Given the description of an element on the screen output the (x, y) to click on. 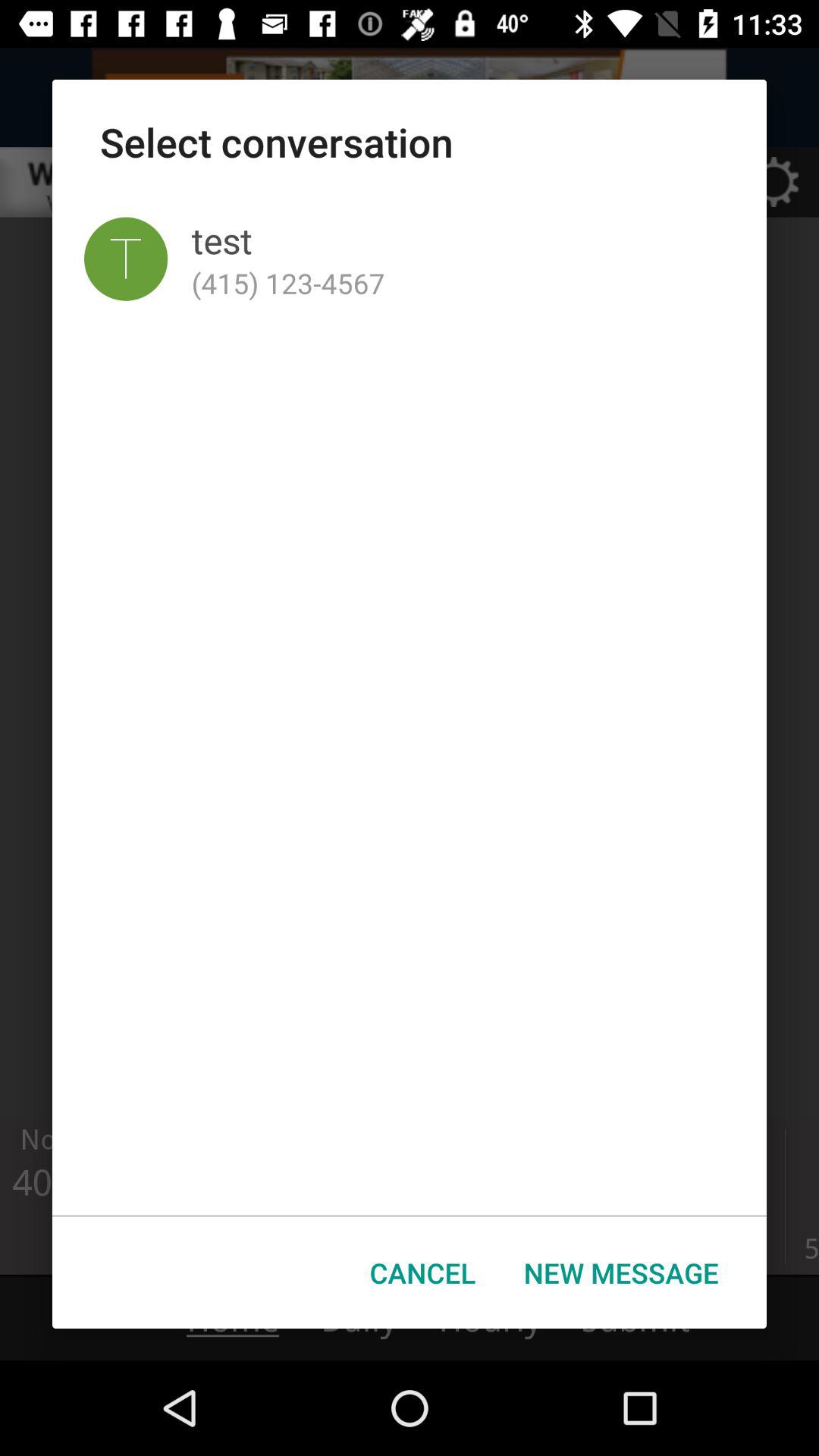
flip until the new message item (620, 1272)
